Given the description of an element on the screen output the (x, y) to click on. 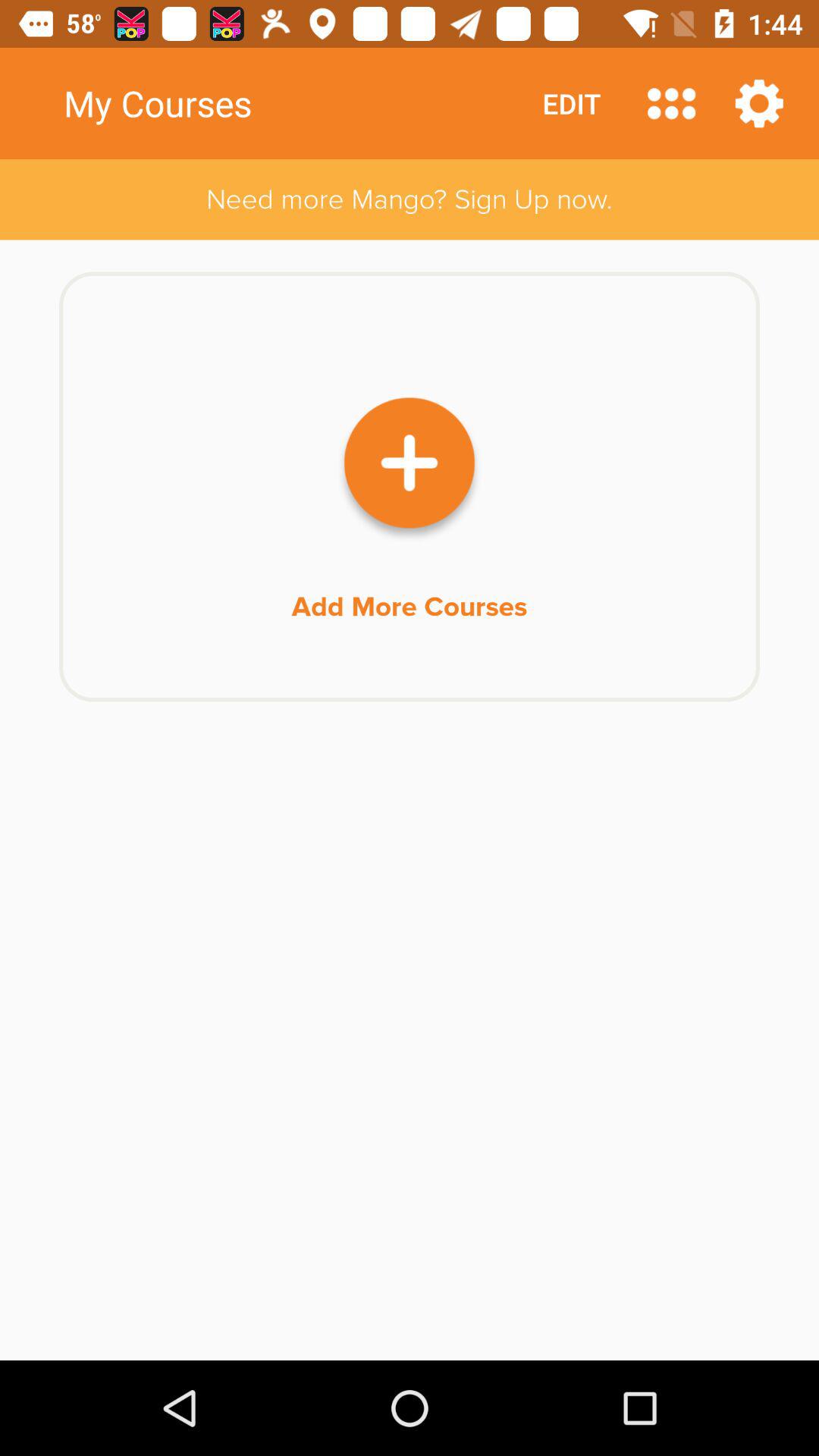
settings option (759, 103)
